Given the description of an element on the screen output the (x, y) to click on. 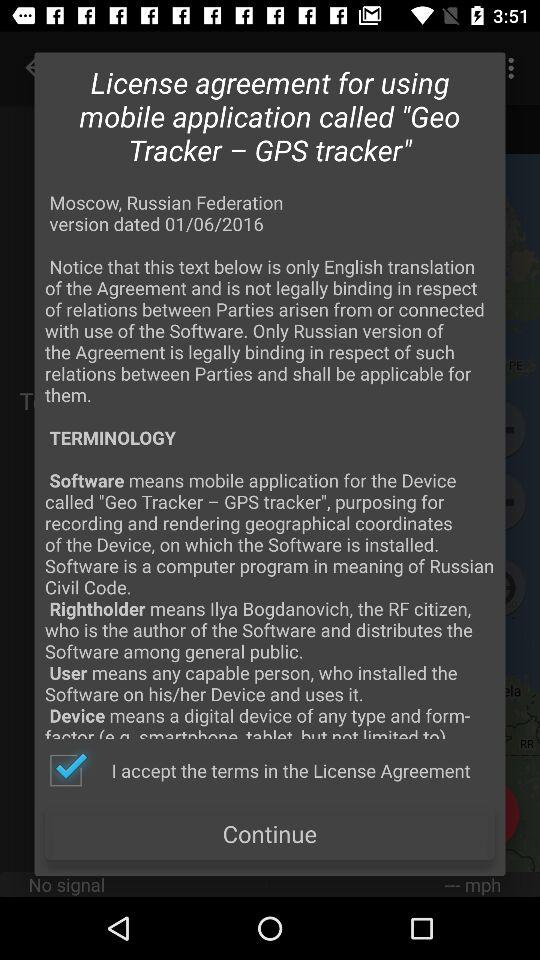
open moscow russian federation app (270, 464)
